Given the description of an element on the screen output the (x, y) to click on. 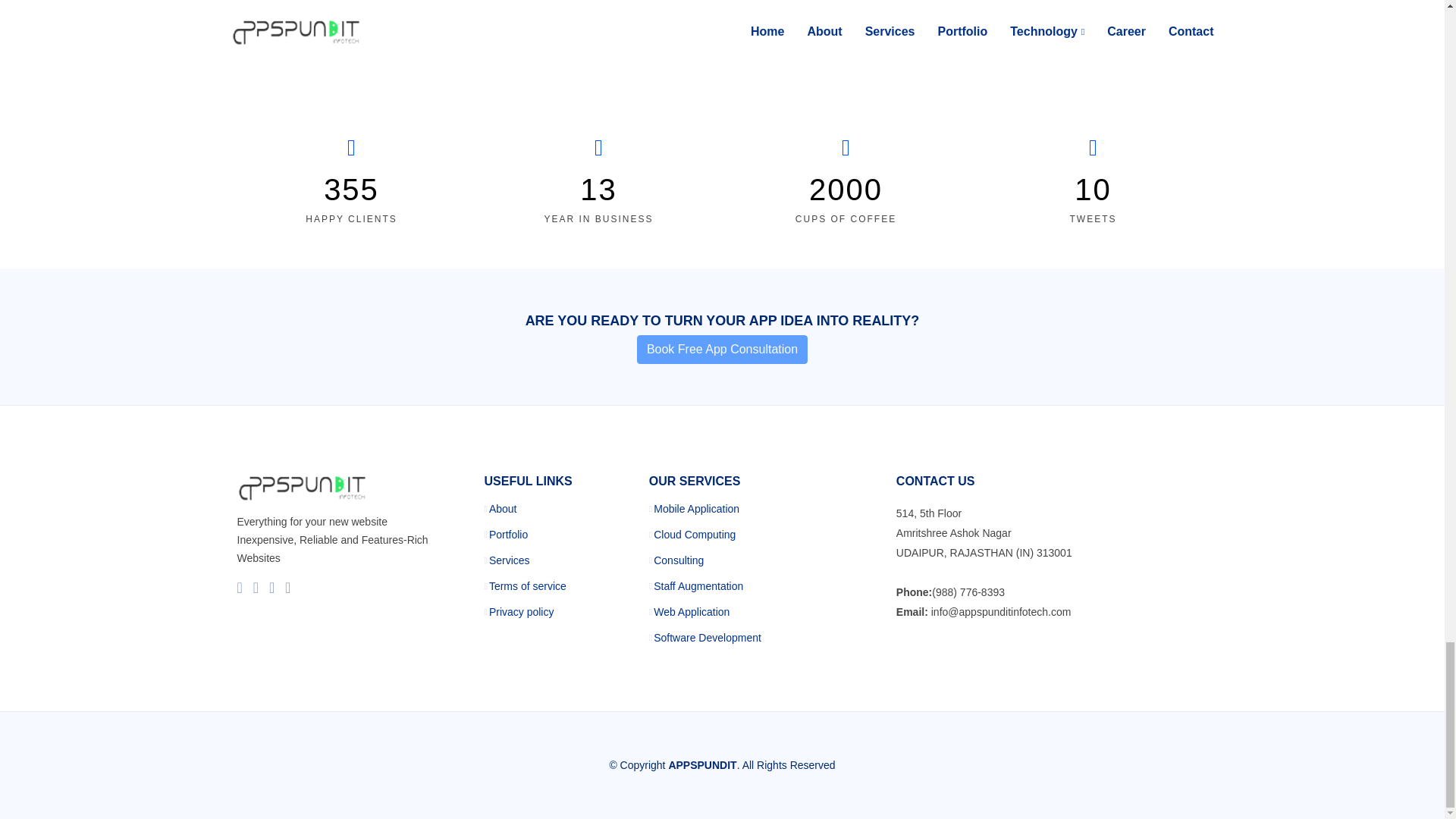
About (502, 508)
Software Development (707, 637)
Cloud Computing (694, 534)
Web Application (691, 611)
Terms of service (527, 585)
Consulting (678, 560)
Mobile Application (696, 508)
Staff Augmentation (697, 585)
Services (509, 560)
Portfolio (508, 534)
Book Free App Consultation (722, 348)
Book Free App Consultation (721, 349)
Privacy policy (521, 611)
